Given the description of an element on the screen output the (x, y) to click on. 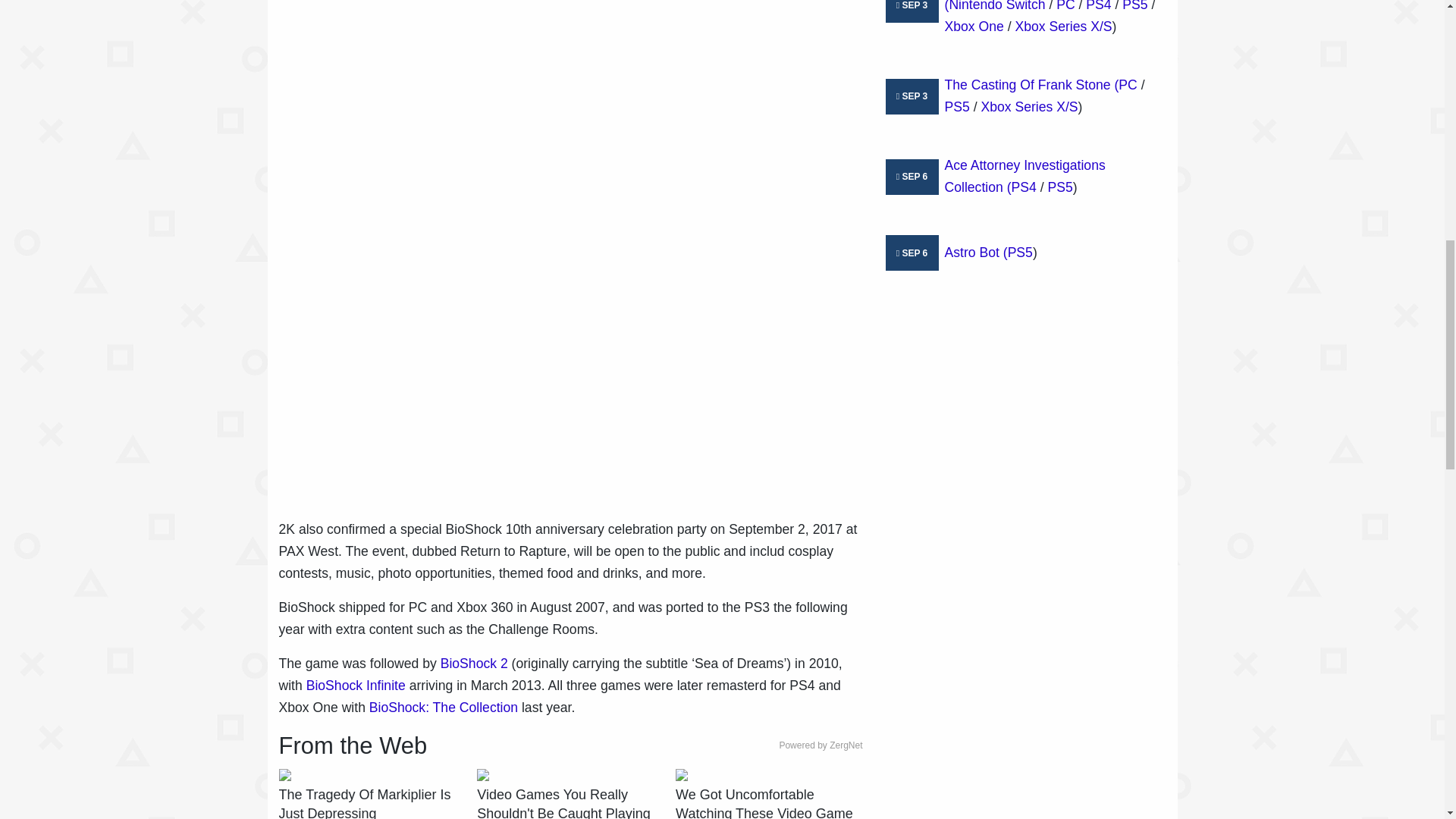
We Got Uncomfortable Watching These Video Game Scenes (768, 802)
The Tragedy Of Markiplier Is Just Depressing (372, 802)
BioShock: The Collection (443, 707)
Powered by ZergNet (819, 745)
BioShock Infinite (355, 685)
BioShock 2 (474, 663)
